Given the description of an element on the screen output the (x, y) to click on. 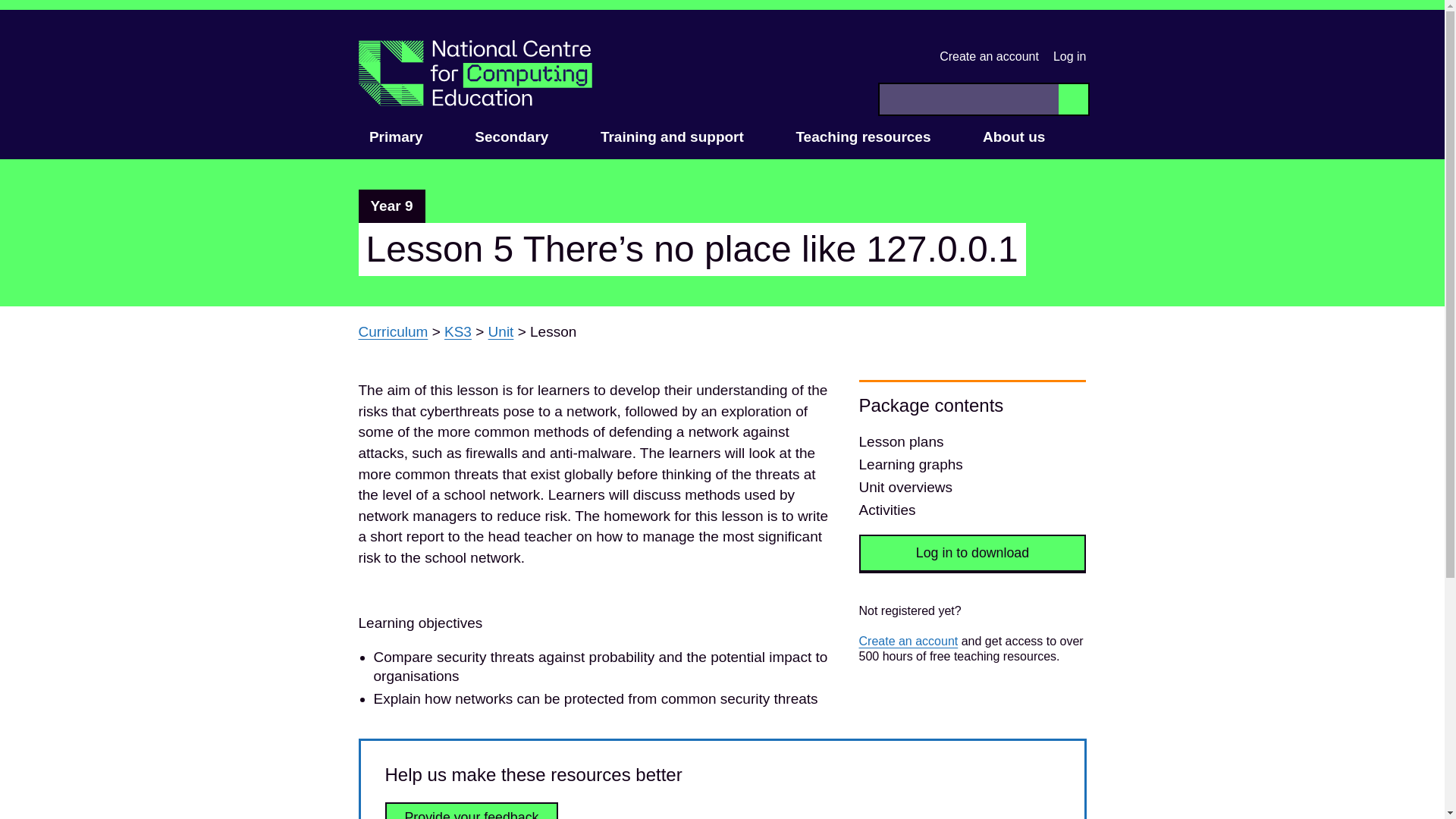
National Centre for Computing Education (474, 72)
Log in to download (972, 553)
Skip to main content (11, 17)
Search (1072, 99)
Unit (500, 331)
Log in (1069, 56)
Create an account (989, 56)
Create an account (908, 640)
Provide your feedback (472, 810)
National Centre for Computing Education (474, 73)
